Given the description of an element on the screen output the (x, y) to click on. 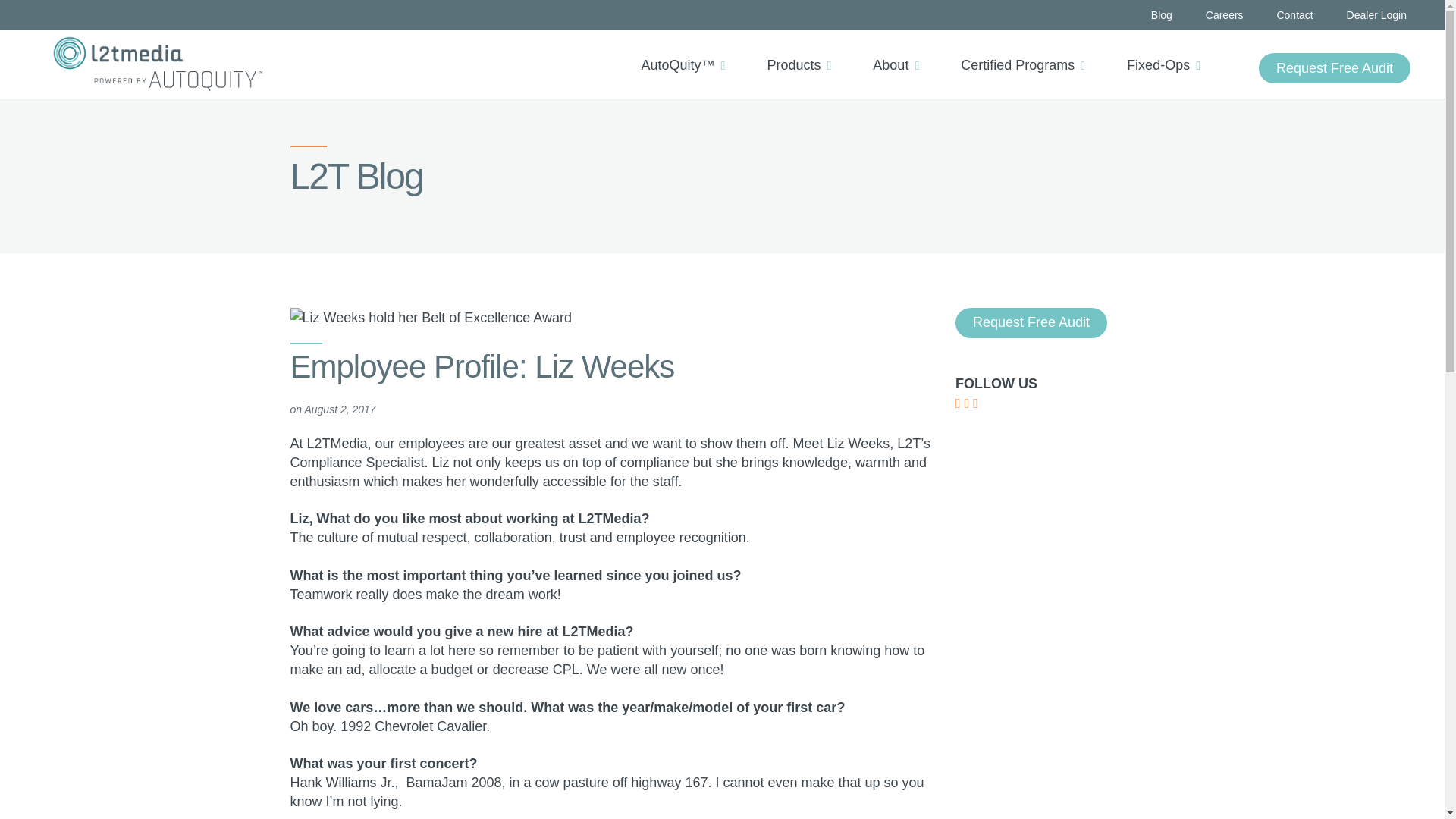
Blog (1161, 15)
Dealer Login (1376, 15)
Fixed-Ops (1169, 52)
About (900, 52)
Contact (1294, 15)
Certified Programs (1028, 52)
Request Free Audit (1334, 68)
Products (804, 52)
Request Free Audit (1334, 68)
Careers (1224, 15)
